Given the description of an element on the screen output the (x, y) to click on. 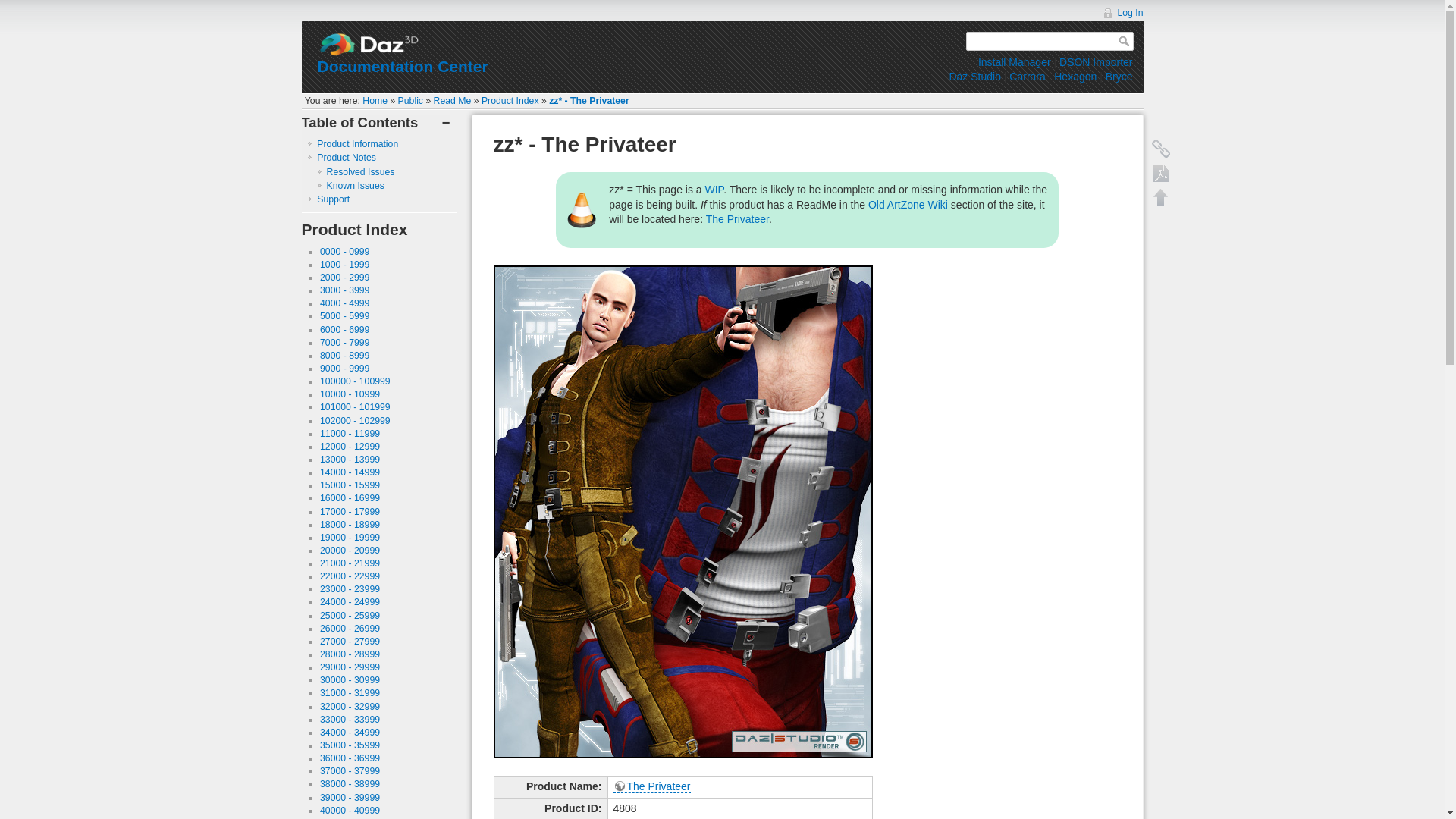
Bryce (1118, 76)
Documentation Center (402, 66)
10000 - 10999 (350, 394)
public:software:bryce:start (1118, 76)
Resolved Issues (360, 172)
public:software:dazstudio:start (974, 76)
public:start (410, 100)
public:software:carrara:start (1027, 76)
Home (374, 100)
13000 - 13999 (350, 459)
